Given the description of an element on the screen output the (x, y) to click on. 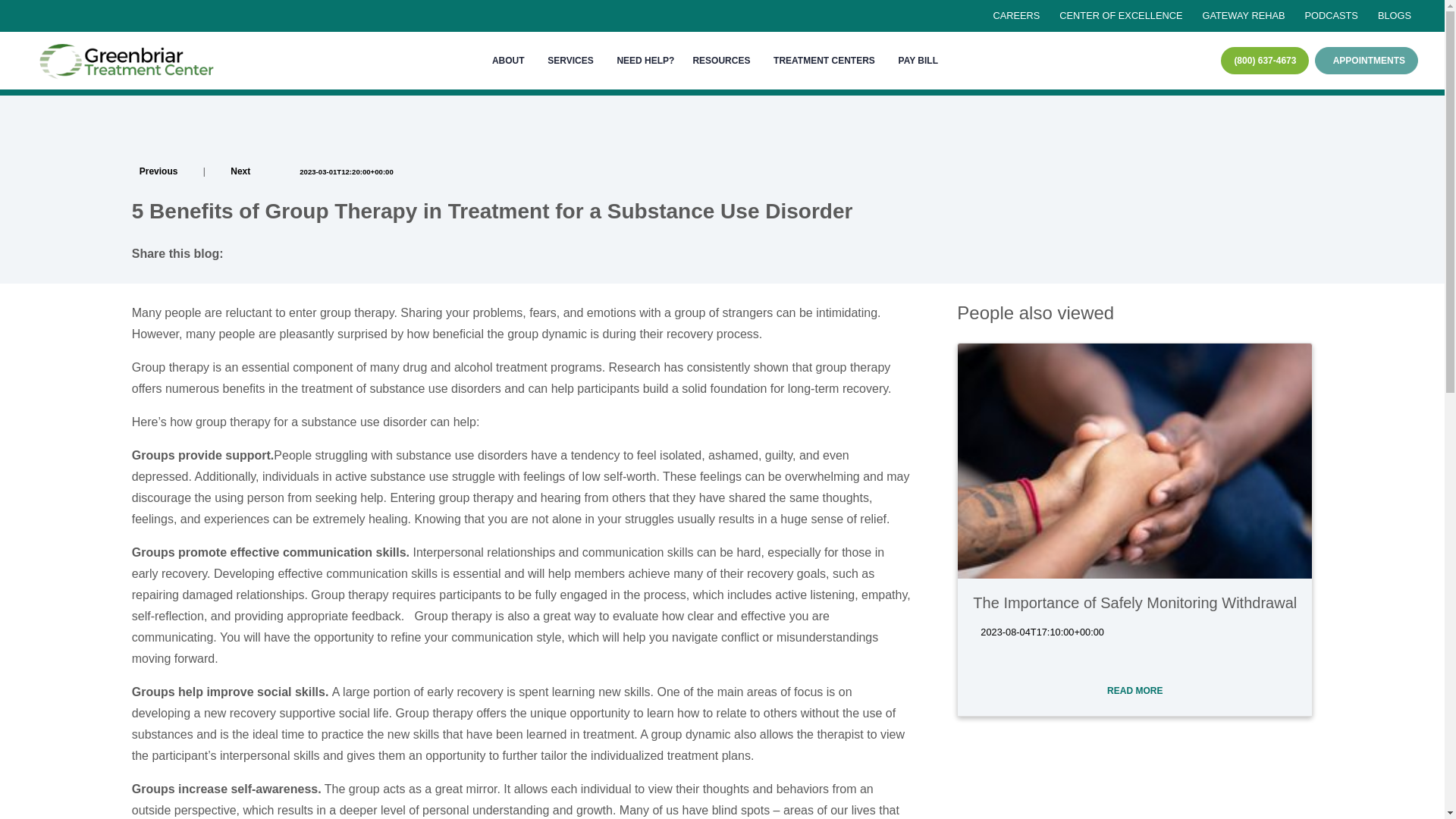
TREATMENT CENTERS   (826, 60)
BLOGS (1393, 15)
GATEWAY REHAB (1242, 15)
SERVICES   (572, 60)
ABOUT   (510, 60)
CAREERS (1016, 15)
NEED HELP? (644, 60)
PODCASTS (1330, 15)
CENTER OF EXCELLENCE (1120, 15)
RESOURCES   (723, 60)
